Given the description of an element on the screen output the (x, y) to click on. 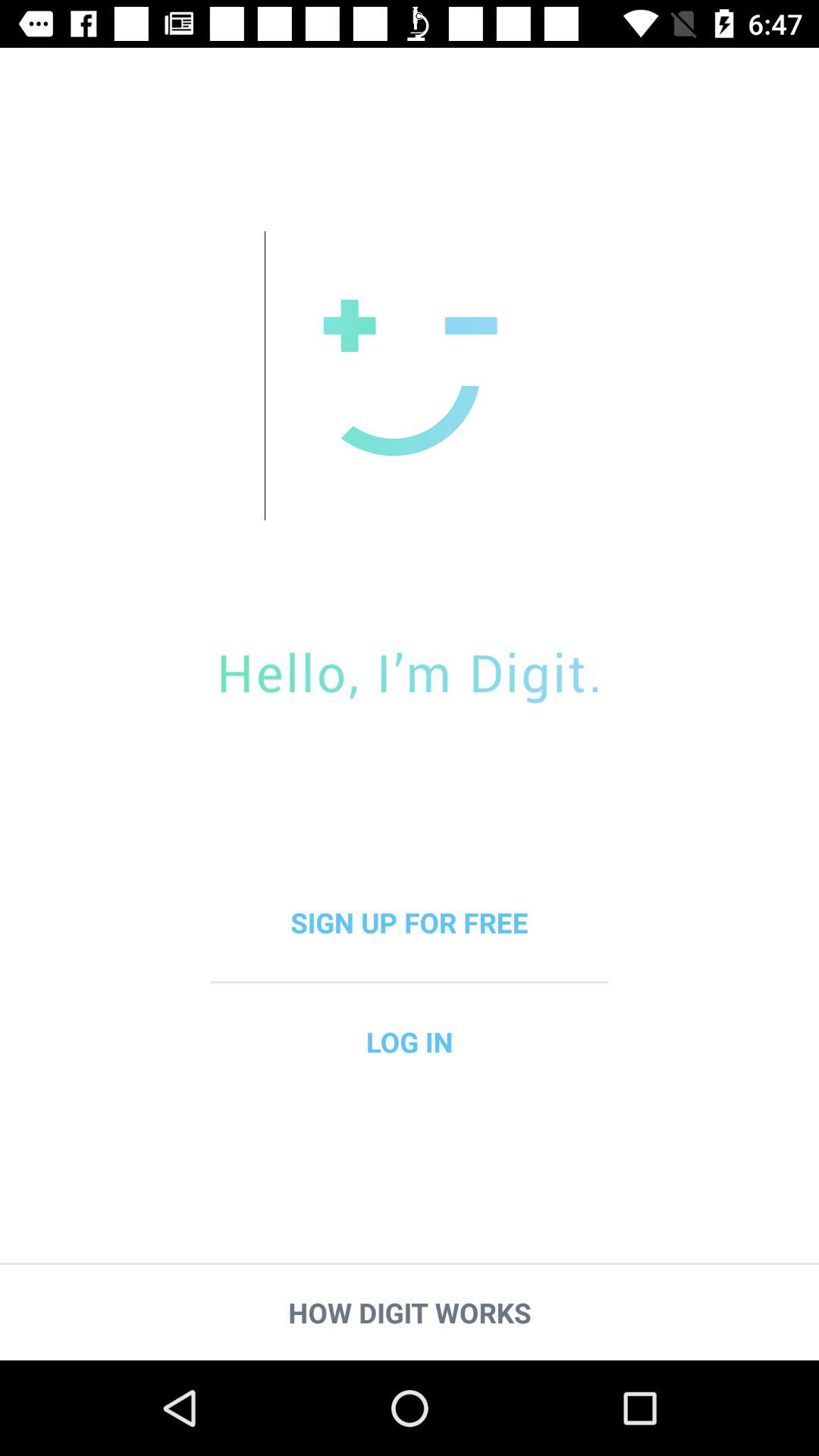
click the sign up for (409, 922)
